Given the description of an element on the screen output the (x, y) to click on. 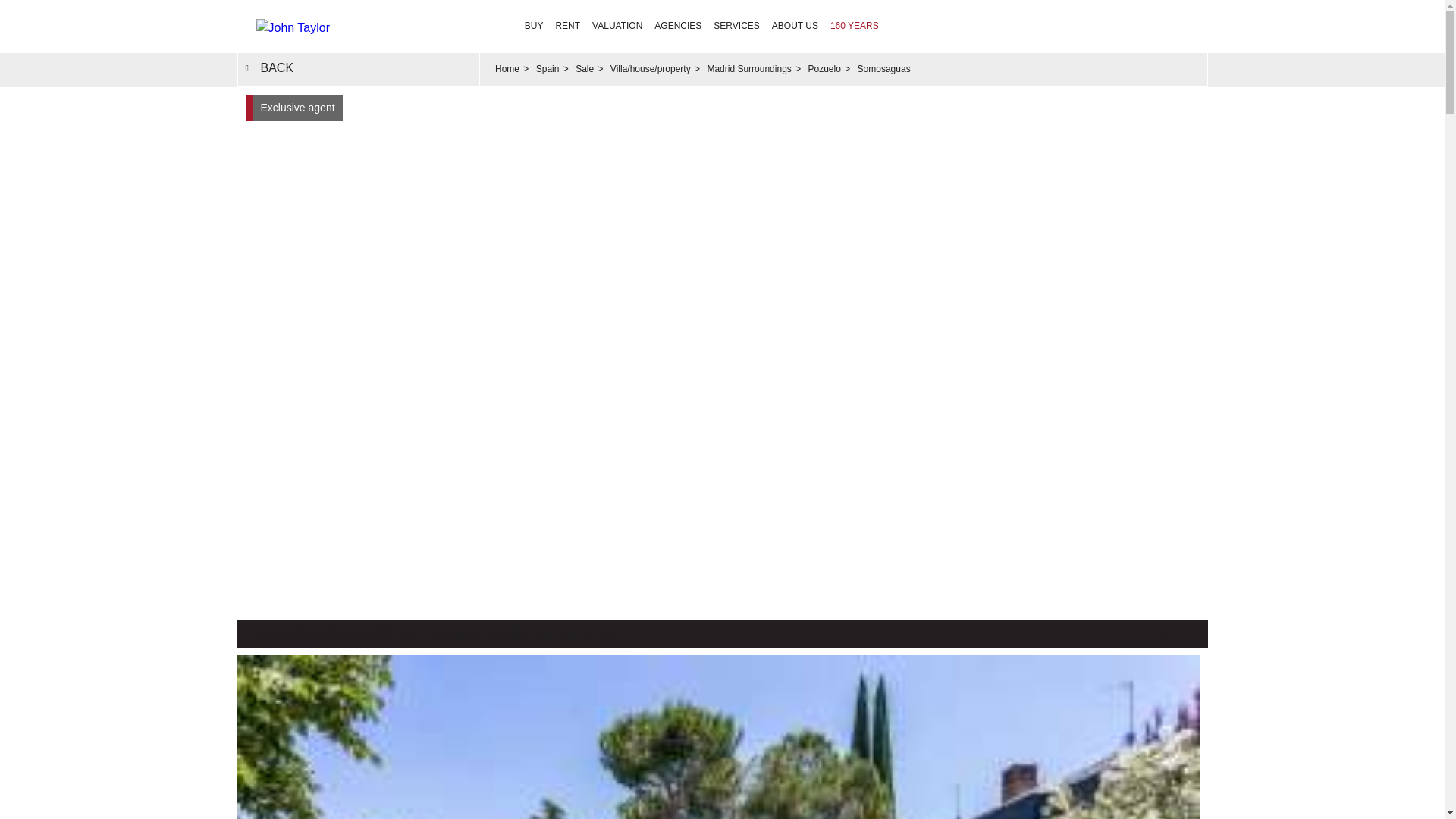
John Taylor (357, 25)
